Given the description of an element on the screen output the (x, y) to click on. 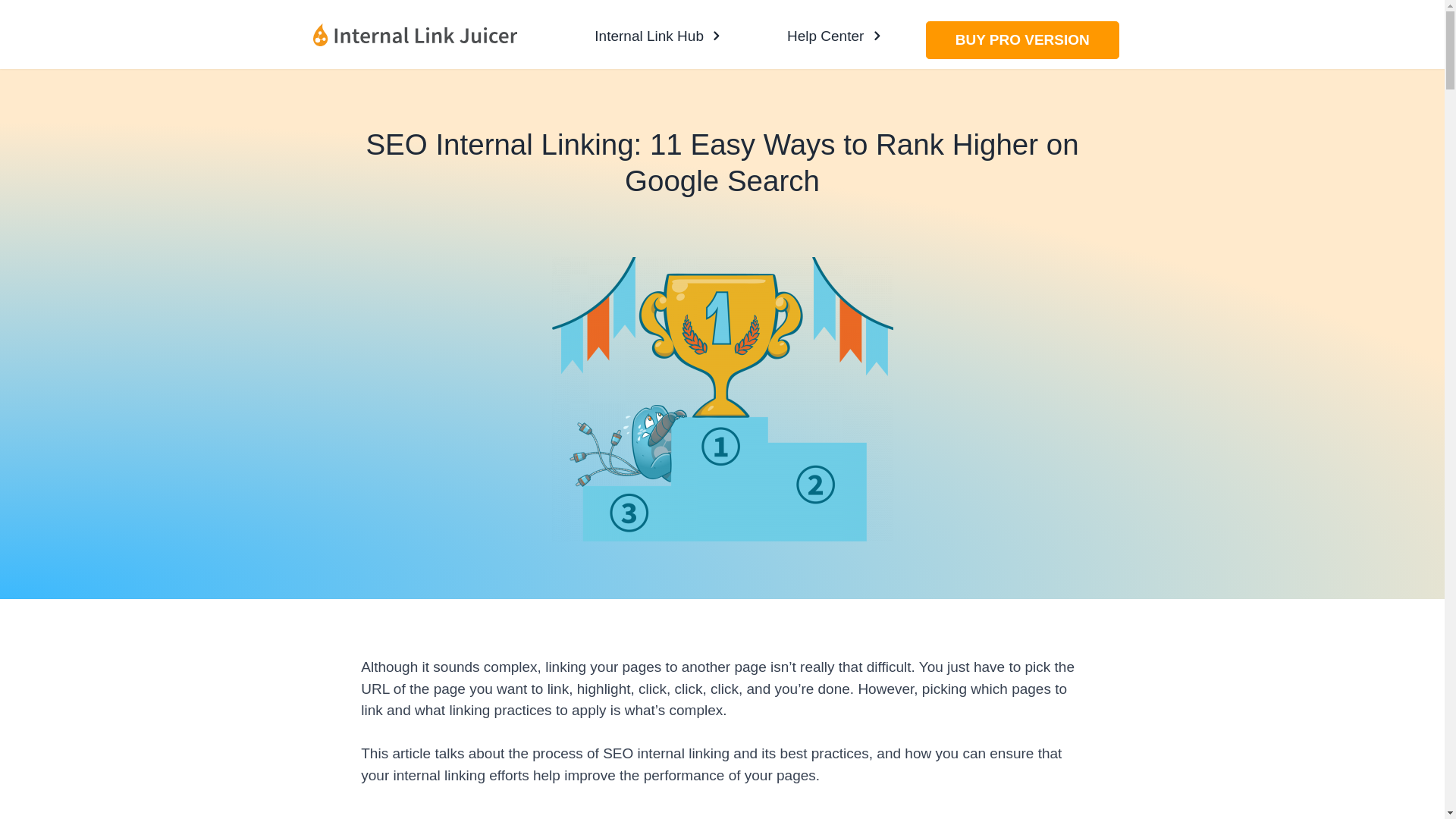
Internal Link Hub (656, 33)
Help Center (832, 33)
Internal Link Juicer (414, 33)
BUY PRO VERSION (1022, 39)
